Given the description of an element on the screen output the (x, y) to click on. 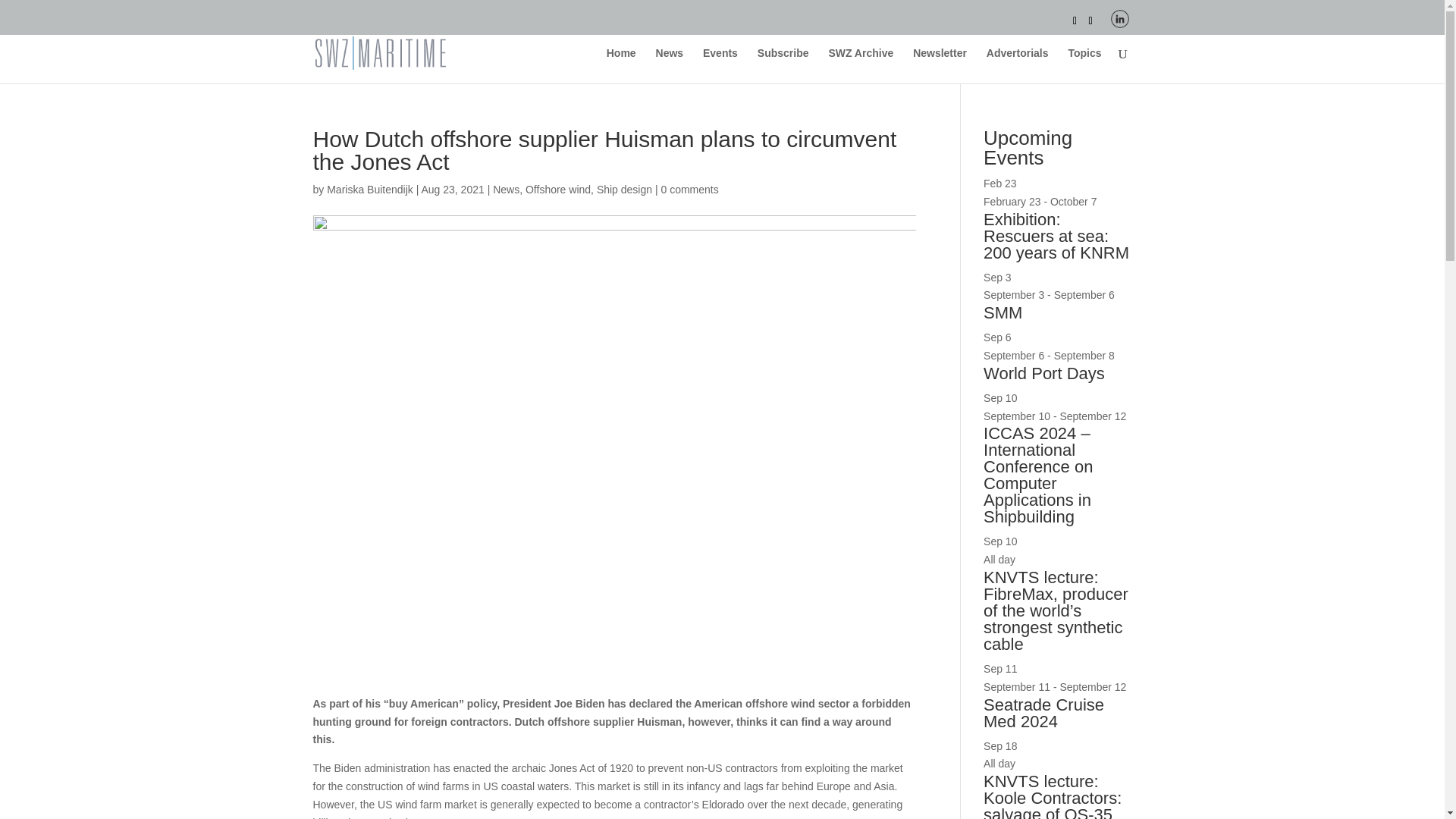
Seatrade Cruise Med 2024 (1043, 713)
Advertorials (1017, 65)
World Port Days (1044, 373)
SMM (1003, 312)
Topics (1083, 65)
Subscribe (783, 65)
Ship design (624, 189)
Seatrade Cruise Med 2024 (1043, 713)
